Given the description of an element on the screen output the (x, y) to click on. 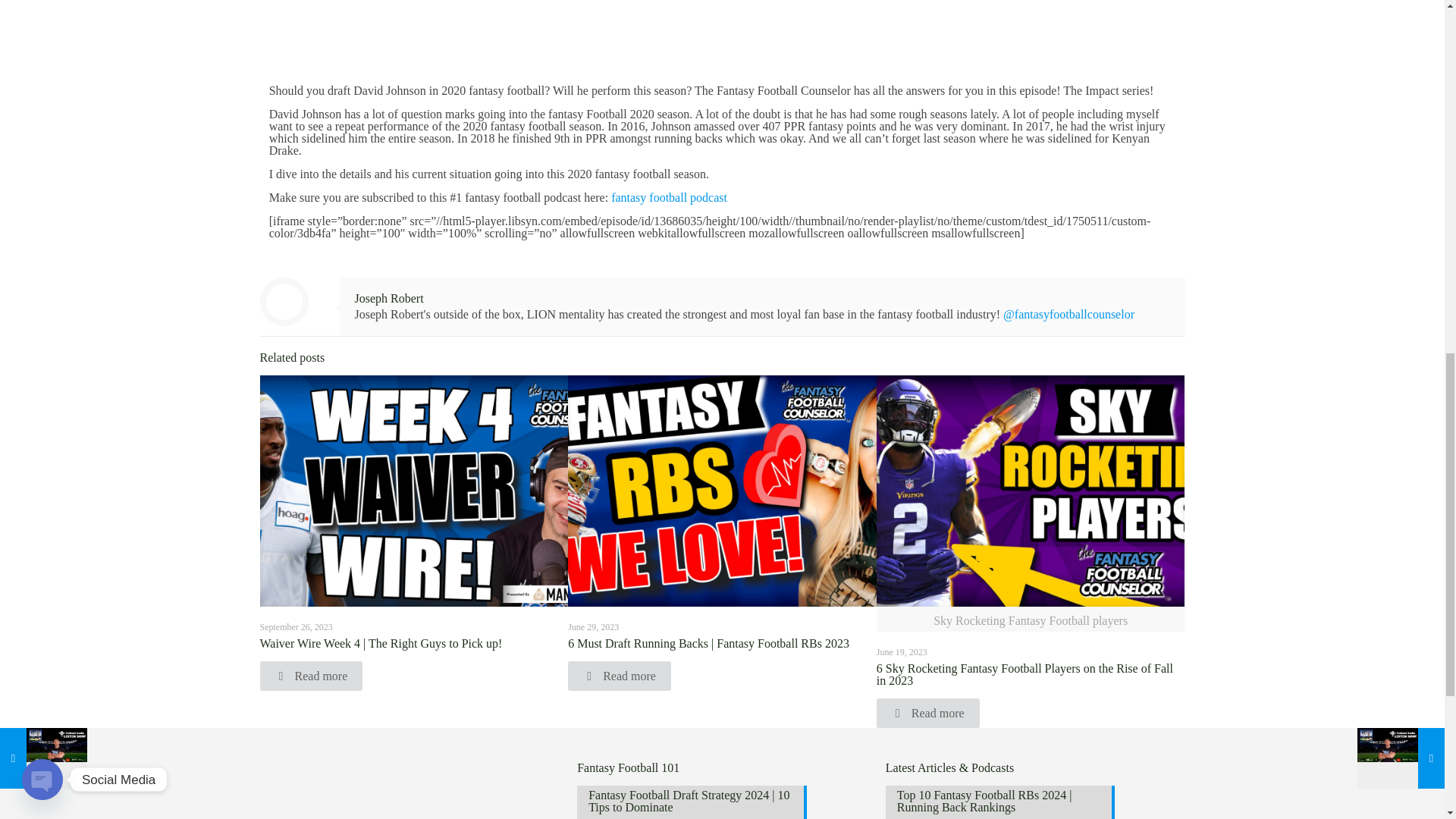
fantasy football podcast (668, 196)
Joseph Robert (389, 297)
Fantasy Football 2020 David Johnson Impact (722, 15)
